Given the description of an element on the screen output the (x, y) to click on. 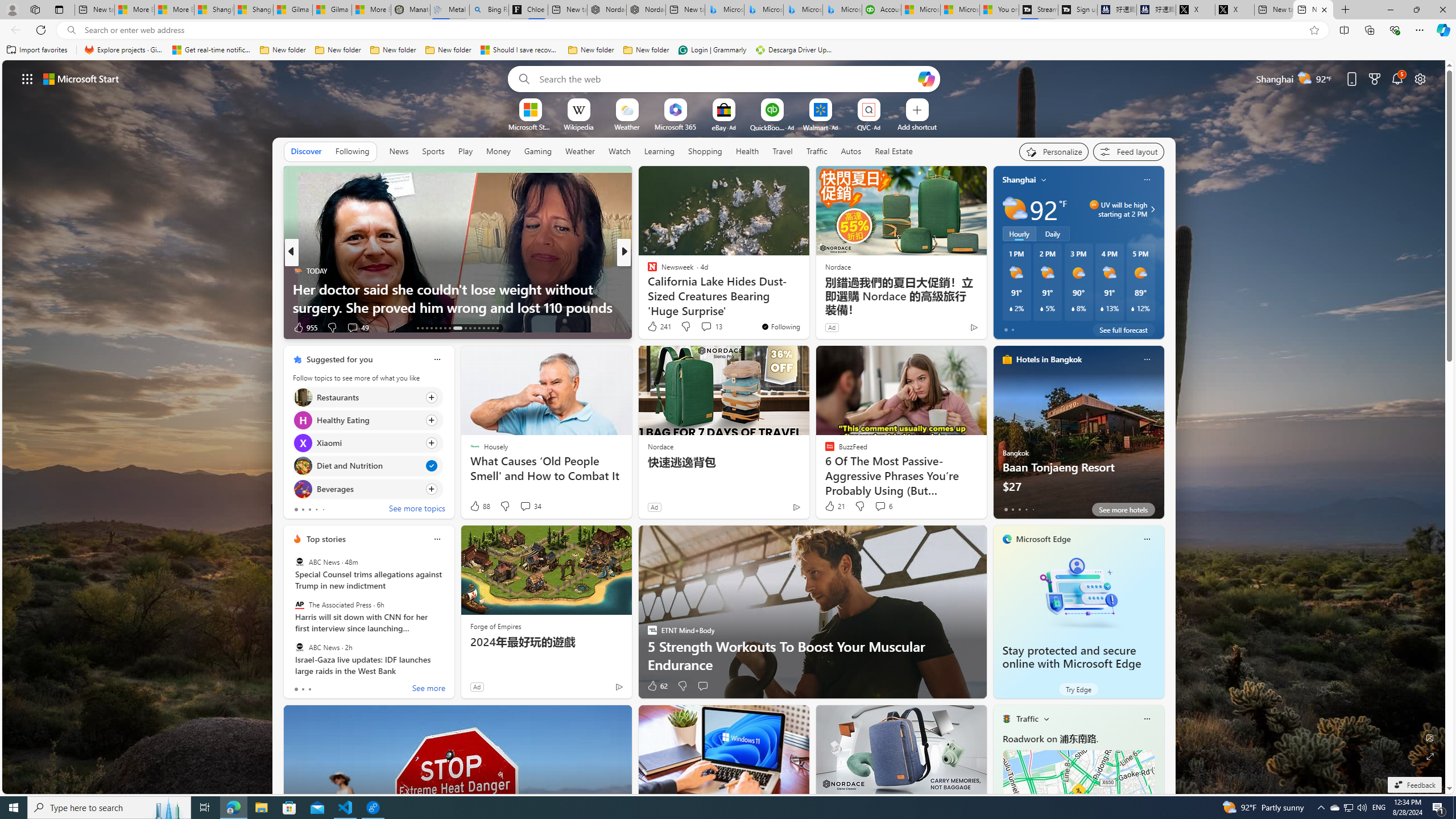
Add a site (916, 126)
15 Like (652, 327)
Earth (647, 288)
AutomationID: tab-26 (483, 328)
Descarga Driver Updater (794, 49)
See more hotels (1123, 509)
View comments 34 Comment (525, 505)
Search icon (70, 29)
Click to follow topic Restaurants (367, 397)
